Given the description of an element on the screen output the (x, y) to click on. 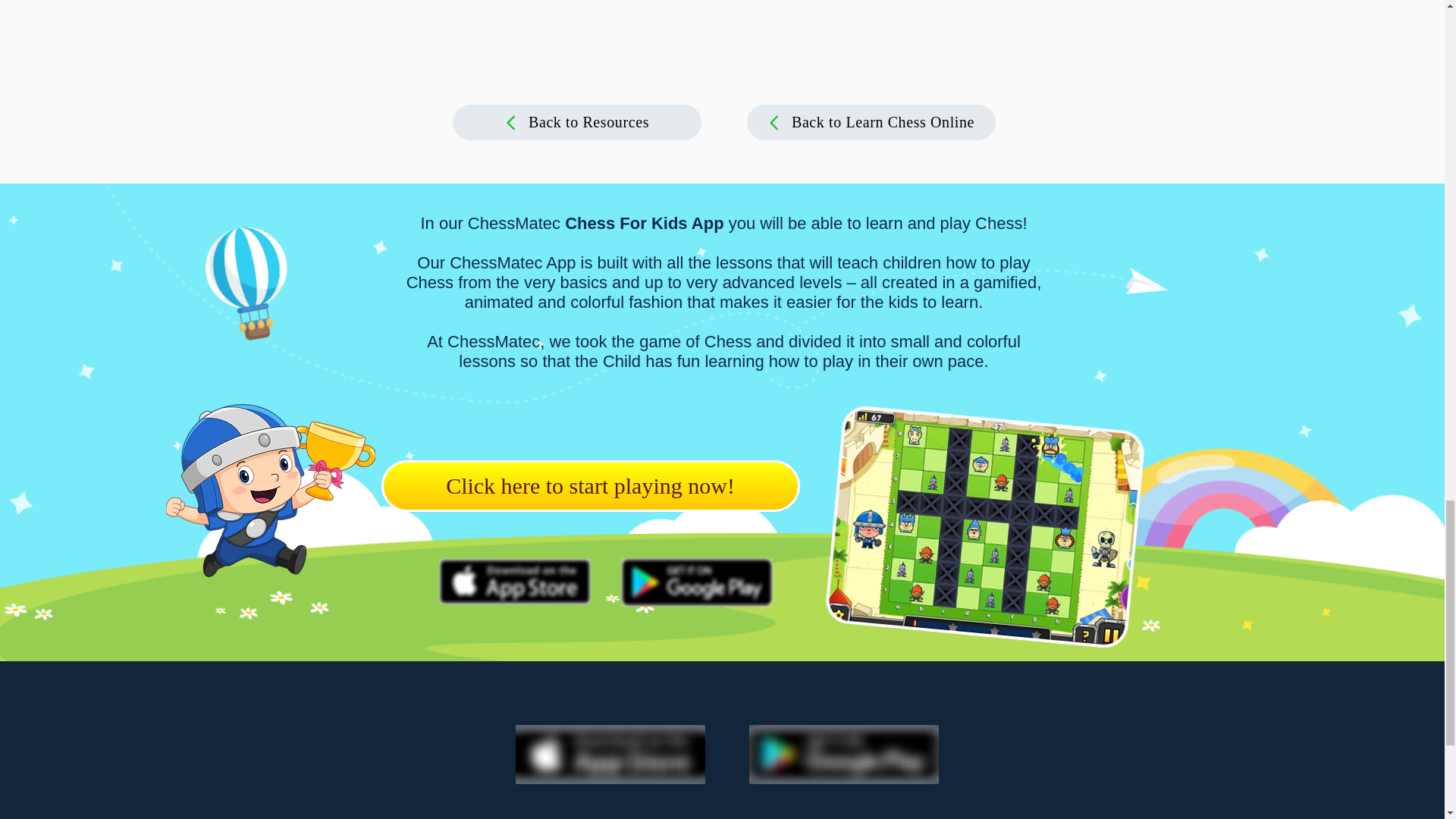
Back to Learn Chess Online (869, 122)
Click here to start playing now! (589, 485)
Back to Resources (575, 122)
